Given the description of an element on the screen output the (x, y) to click on. 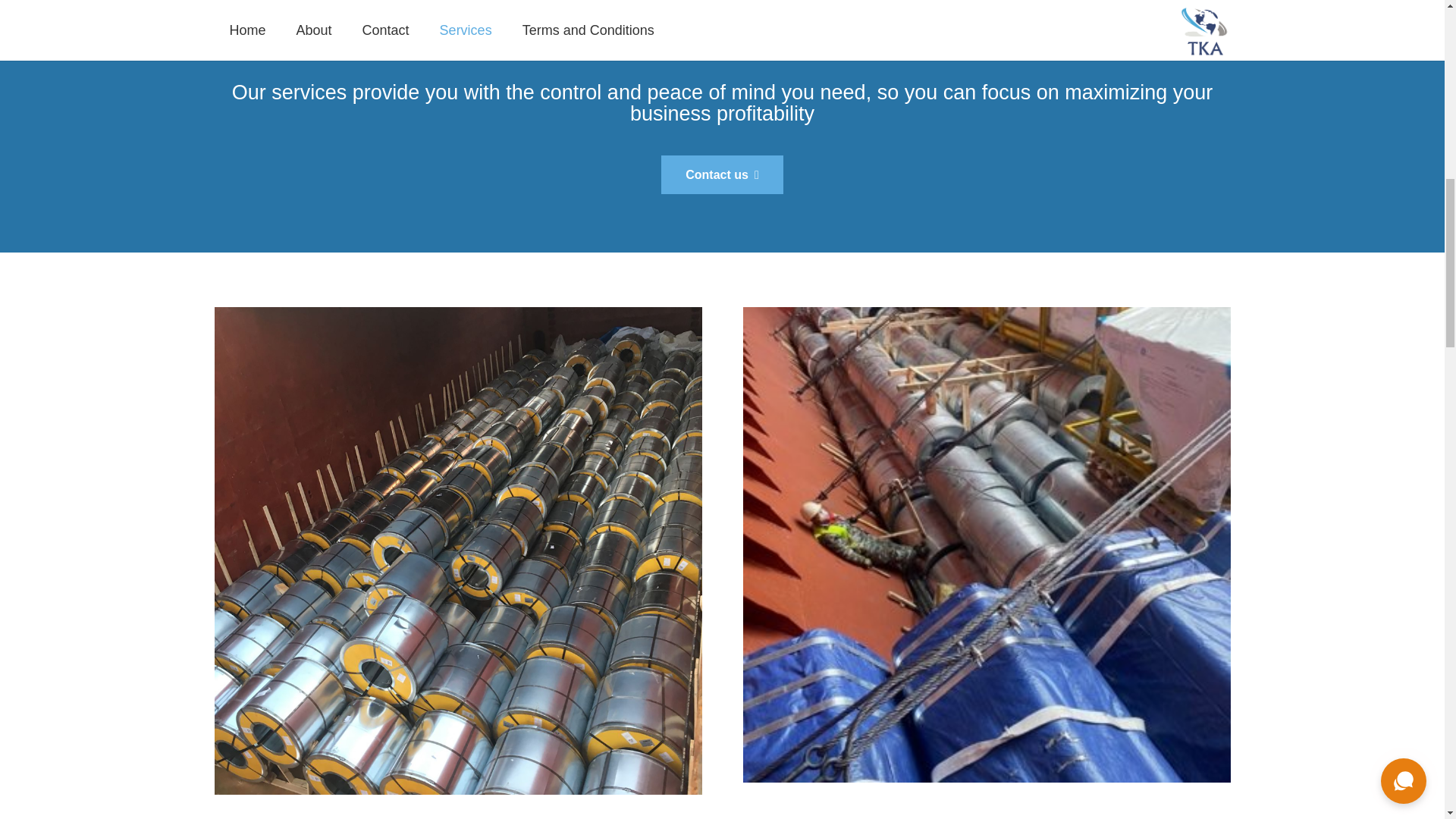
Contact (722, 174)
Contact us (722, 174)
